Given the description of an element on the screen output the (x, y) to click on. 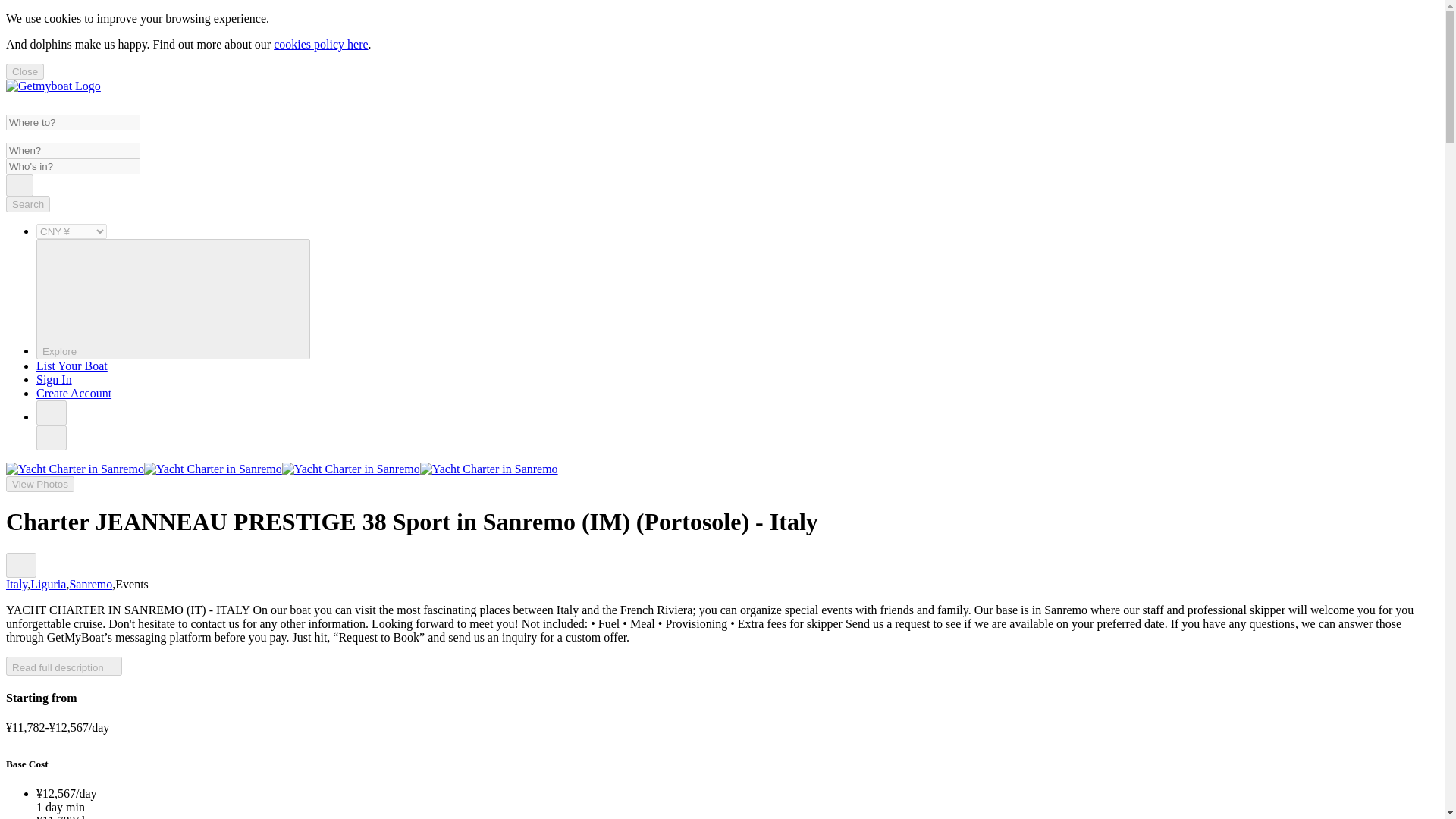
Read full description (63, 665)
Sign In (53, 379)
View Photos (39, 483)
Sanremo (90, 584)
Explore (173, 299)
Liguria (47, 584)
Italy (16, 584)
cookies policy here (320, 43)
Create Account (74, 392)
Search (19, 185)
